Given the description of an element on the screen output the (x, y) to click on. 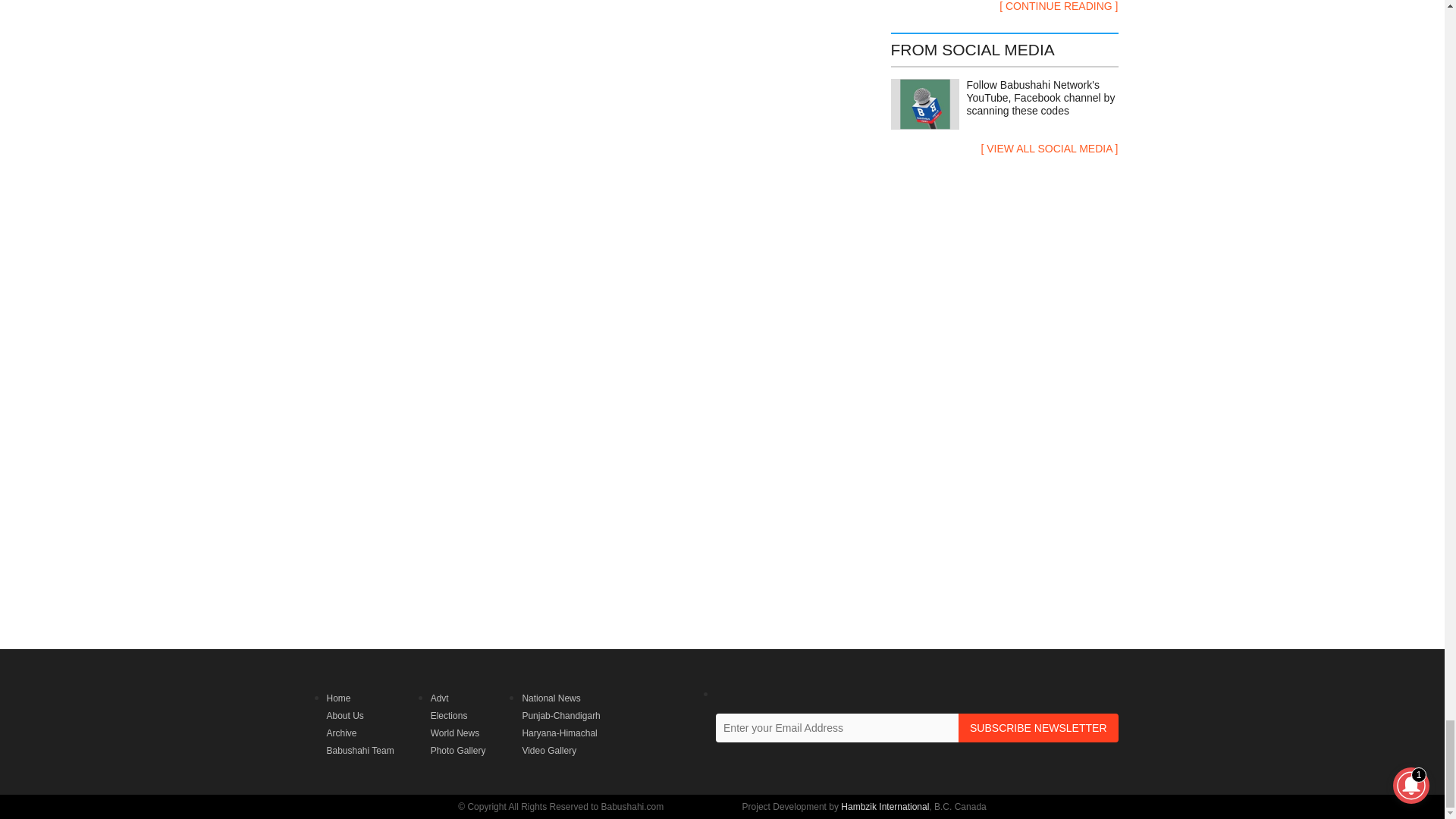
Subscribe Newsletter (1038, 727)
